Given the description of an element on the screen output the (x, y) to click on. 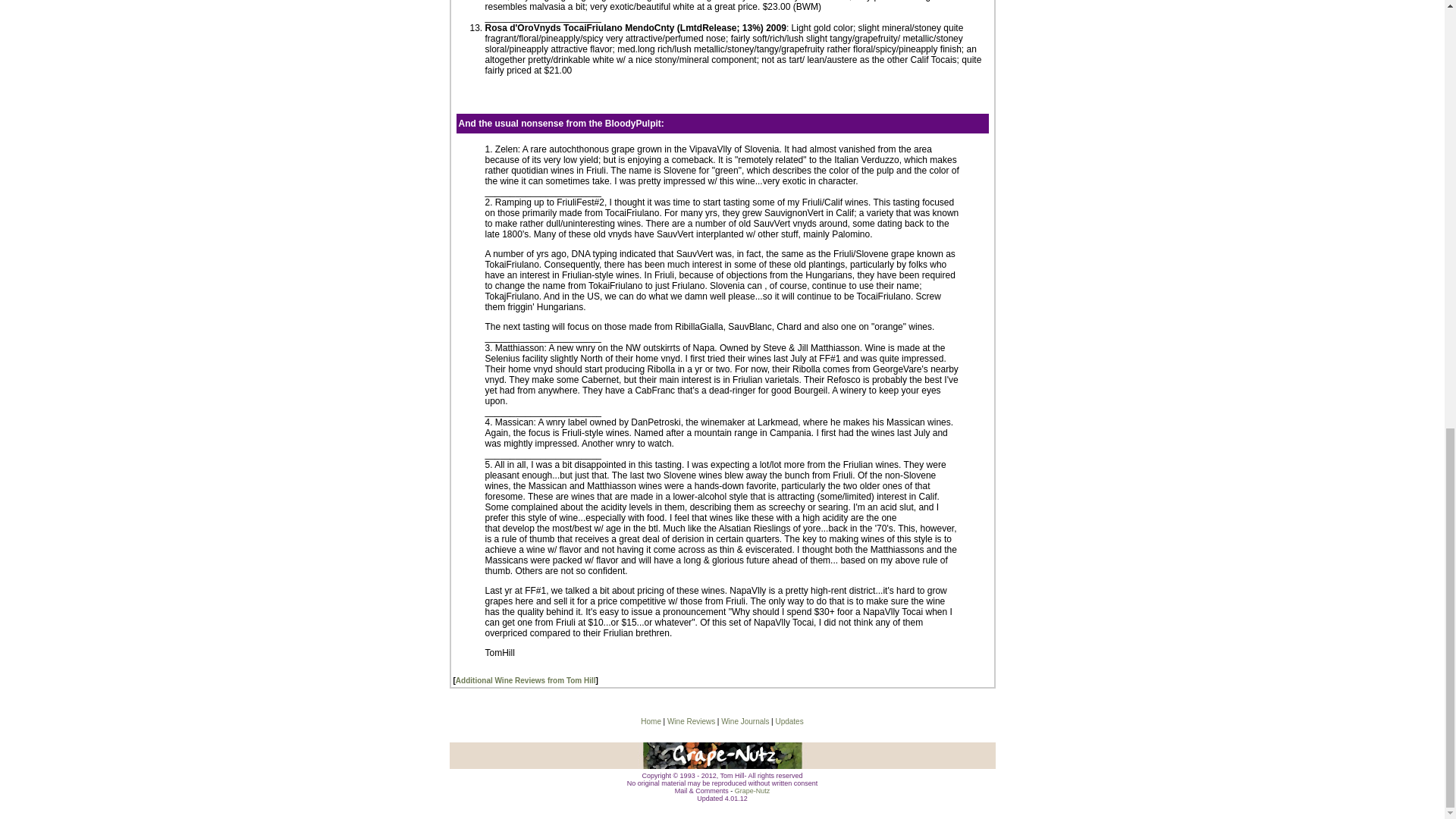
Wine Journals (744, 721)
Updates (788, 721)
Wine Reviews (690, 721)
Home (650, 721)
Grape-Nutz (752, 790)
Additional Wine Reviews from Tom Hill (525, 680)
